Given the description of an element on the screen output the (x, y) to click on. 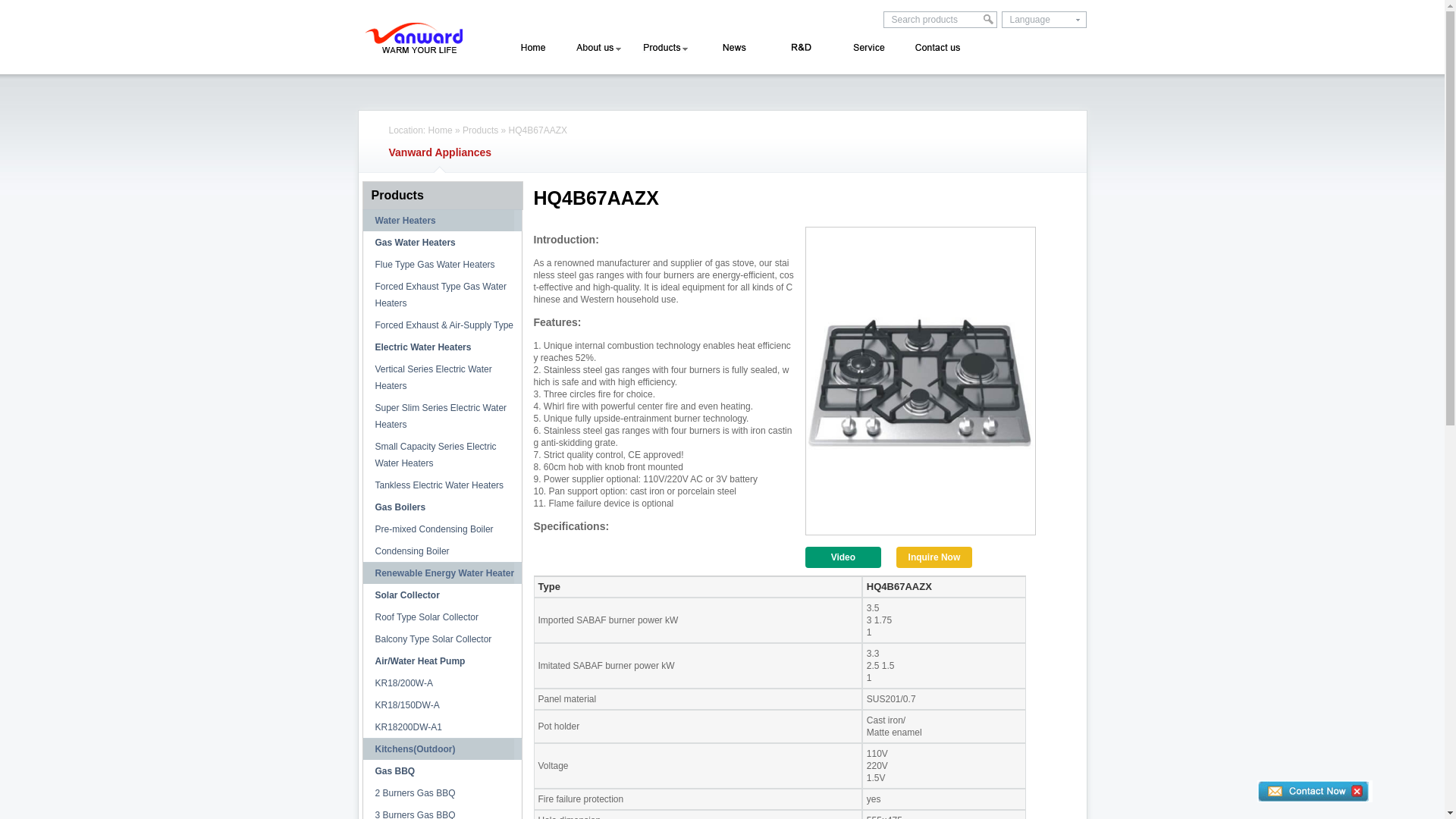
Electric Water Heaters Element type: text (442, 346)
Home Element type: text (533, 48)
Air/Water Heat Pump Element type: text (442, 660)
Vanward Appliances Element type: text (440, 152)
Balcony Type Solar Collector Element type: text (442, 638)
Renewable Energy Water Heater Element type: text (442, 572)
Gas Water Heaters Element type: text (442, 242)
Condensing Boiler Element type: text (442, 550)
Vertical Series Electric Water Heaters Element type: text (442, 377)
KR18/200W-A Element type: text (442, 682)
R&D Element type: text (794, 48)
Gas Boilers Element type: text (442, 506)
Gas BBQ Element type: text (442, 770)
Video Element type: text (843, 556)
Pre-mixed Condensing Boiler Element type: text (442, 528)
Inquire Now Element type: text (934, 556)
News Element type: text (729, 48)
KR18/150DW-A Element type: text (442, 704)
Water Heaters Element type: text (442, 220)
About us Element type: text (598, 48)
Forced Exhaust & Air-Supply Type Element type: text (442, 324)
Forced Exhaust Type Gas Water Heaters Element type: text (442, 294)
Roof Type Solar Collector Element type: text (442, 616)
Search products Element type: text (932, 19)
Products Element type: text (663, 48)
Products Element type: text (480, 130)
Home Element type: text (440, 130)
Contact us Element type: text (936, 48)
Tankless Electric Water Heaters Element type: text (442, 484)
KR18200DW-A1 Element type: text (442, 726)
Service Element type: text (865, 48)
Kitchens(Outdoor) Element type: text (442, 748)
Super Slim Series Electric Water Heaters Element type: text (442, 416)
Flue Type Gas Water Heaters Element type: text (442, 264)
Products Element type: text (439, 195)
2 Burners Gas BBQ Element type: text (442, 792)
Solar Collector Element type: text (442, 594)
Small Capacity Series Electric Water Heaters Element type: text (442, 454)
